Given the description of an element on the screen output the (x, y) to click on. 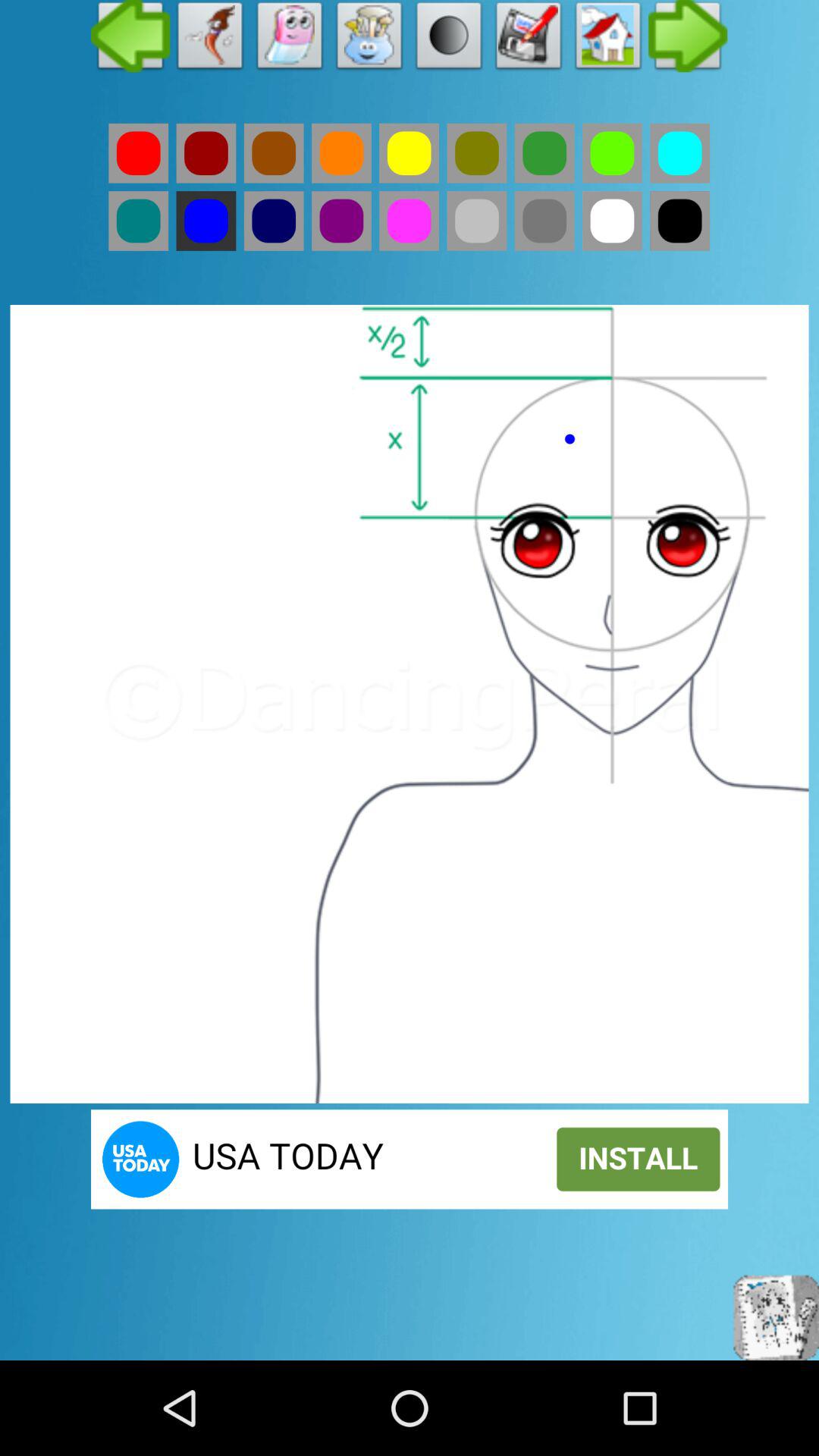
select color light grey (476, 220)
